Given the description of an element on the screen output the (x, y) to click on. 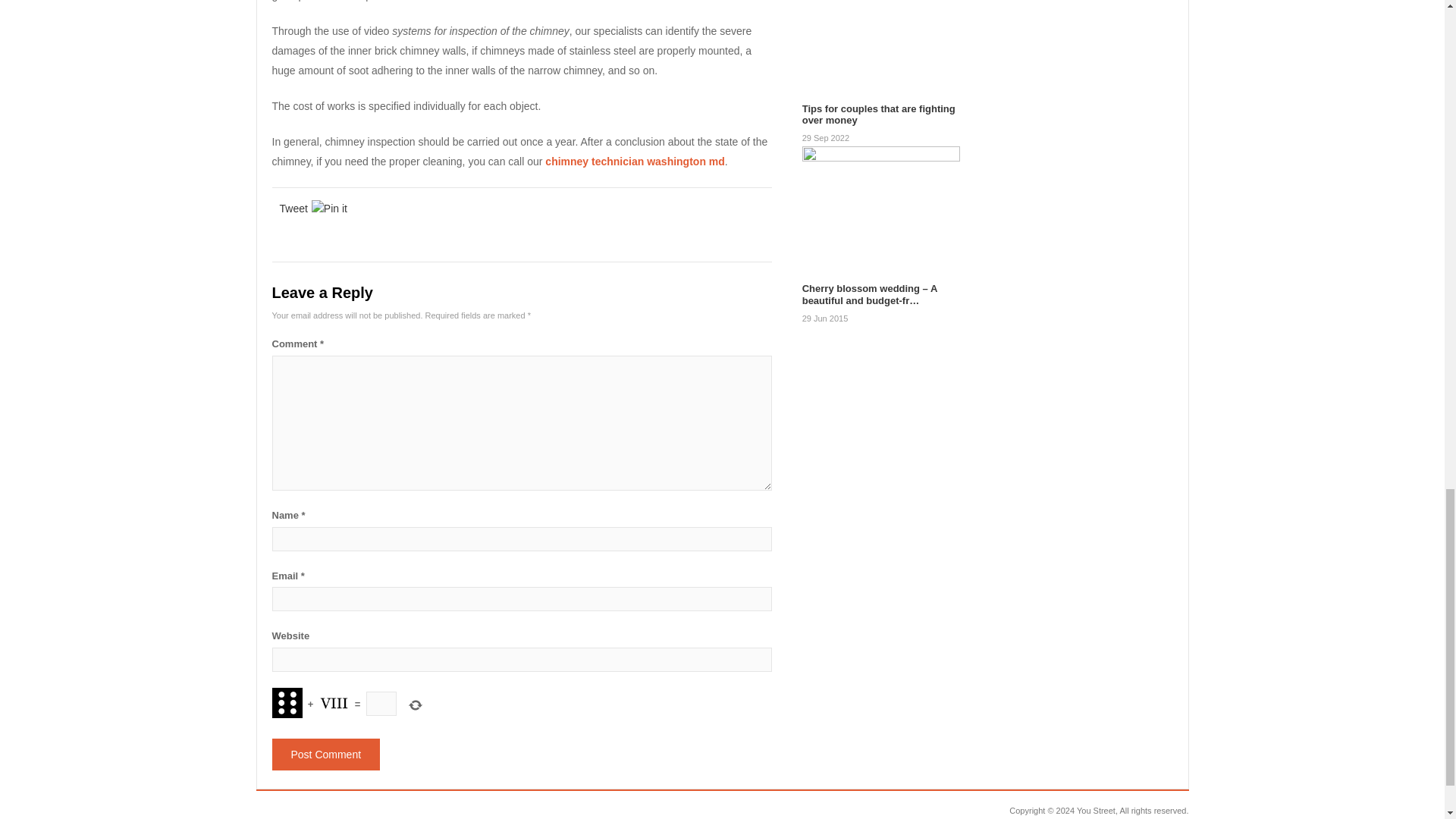
Post Comment (325, 754)
